Given the description of an element on the screen output the (x, y) to click on. 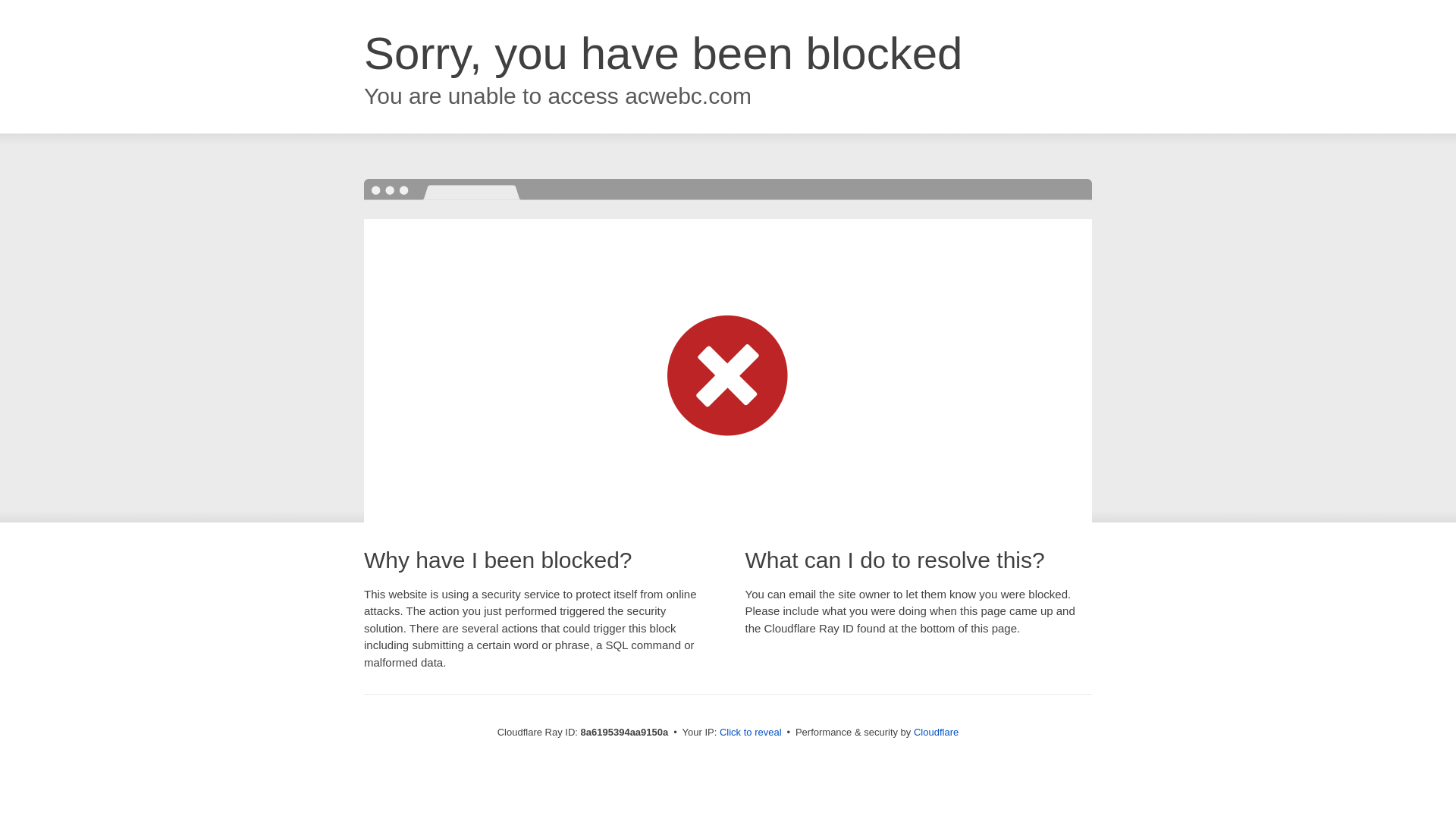
Click to reveal (750, 732)
Cloudflare (936, 731)
